Given the description of an element on the screen output the (x, y) to click on. 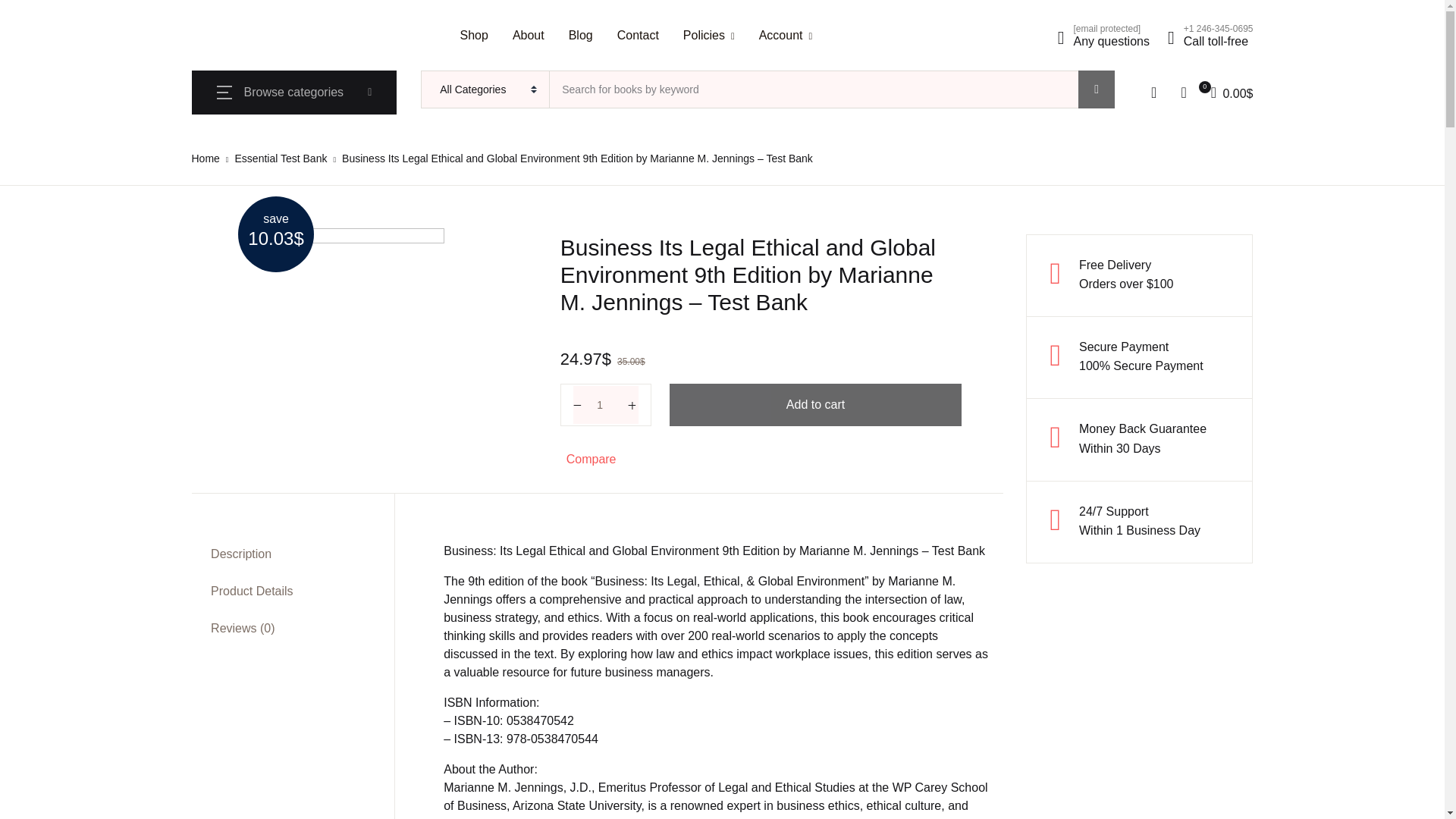
Account (785, 34)
Account (785, 34)
1 (606, 404)
Contact (638, 34)
Policies (708, 34)
Contact (638, 34)
Browse categories (293, 92)
Policies (708, 34)
